Given the description of an element on the screen output the (x, y) to click on. 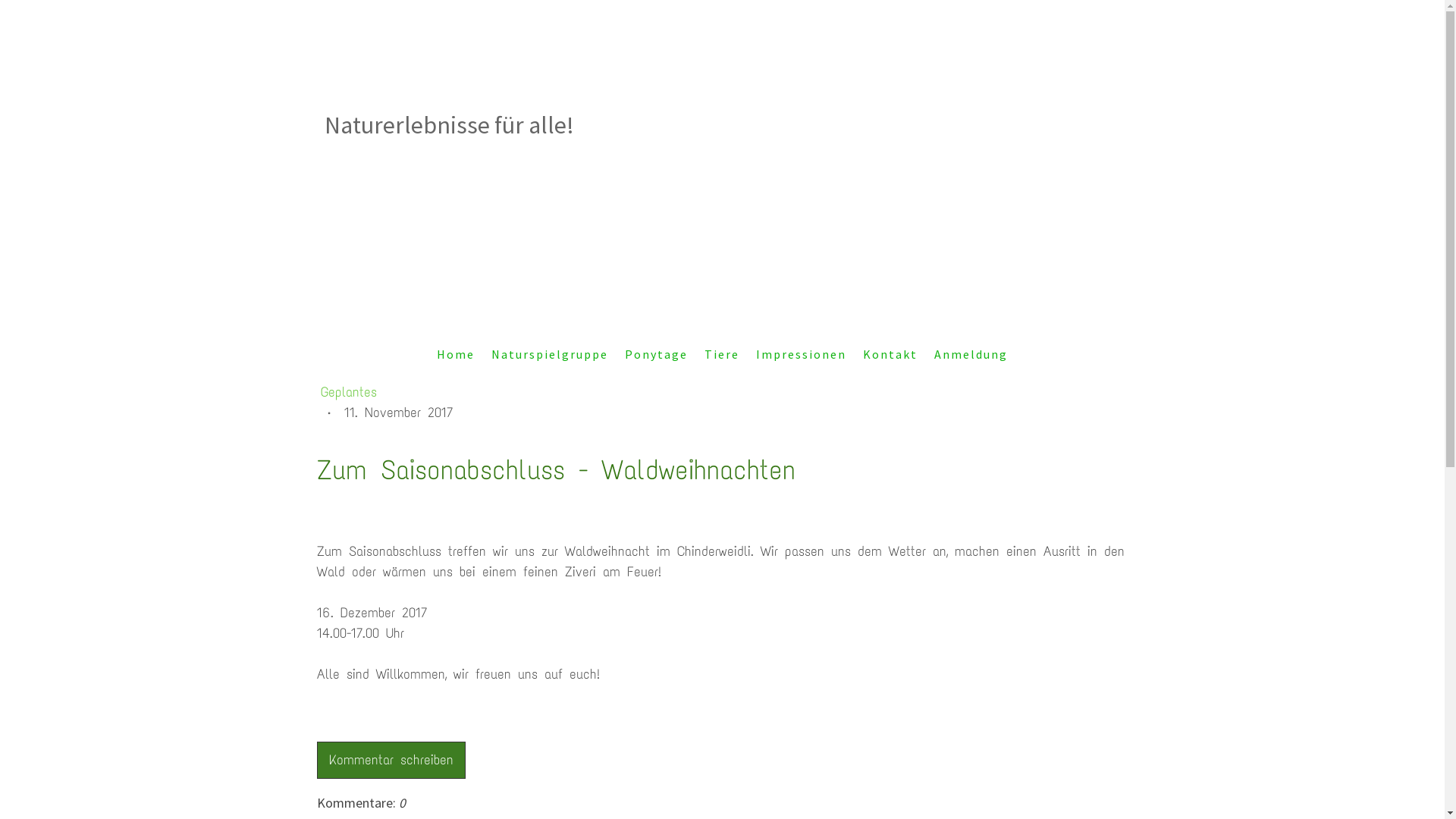
Tiere Element type: text (721, 353)
Home Element type: text (455, 353)
Kontakt Element type: text (889, 353)
Naturspielgruppe Element type: text (549, 353)
Impressionen Element type: text (800, 353)
Kommentar schreiben Element type: text (390, 759)
Anmeldung Element type: text (970, 353)
Ponytage Element type: text (656, 353)
Geplantes Element type: text (721, 392)
